Given the description of an element on the screen output the (x, y) to click on. 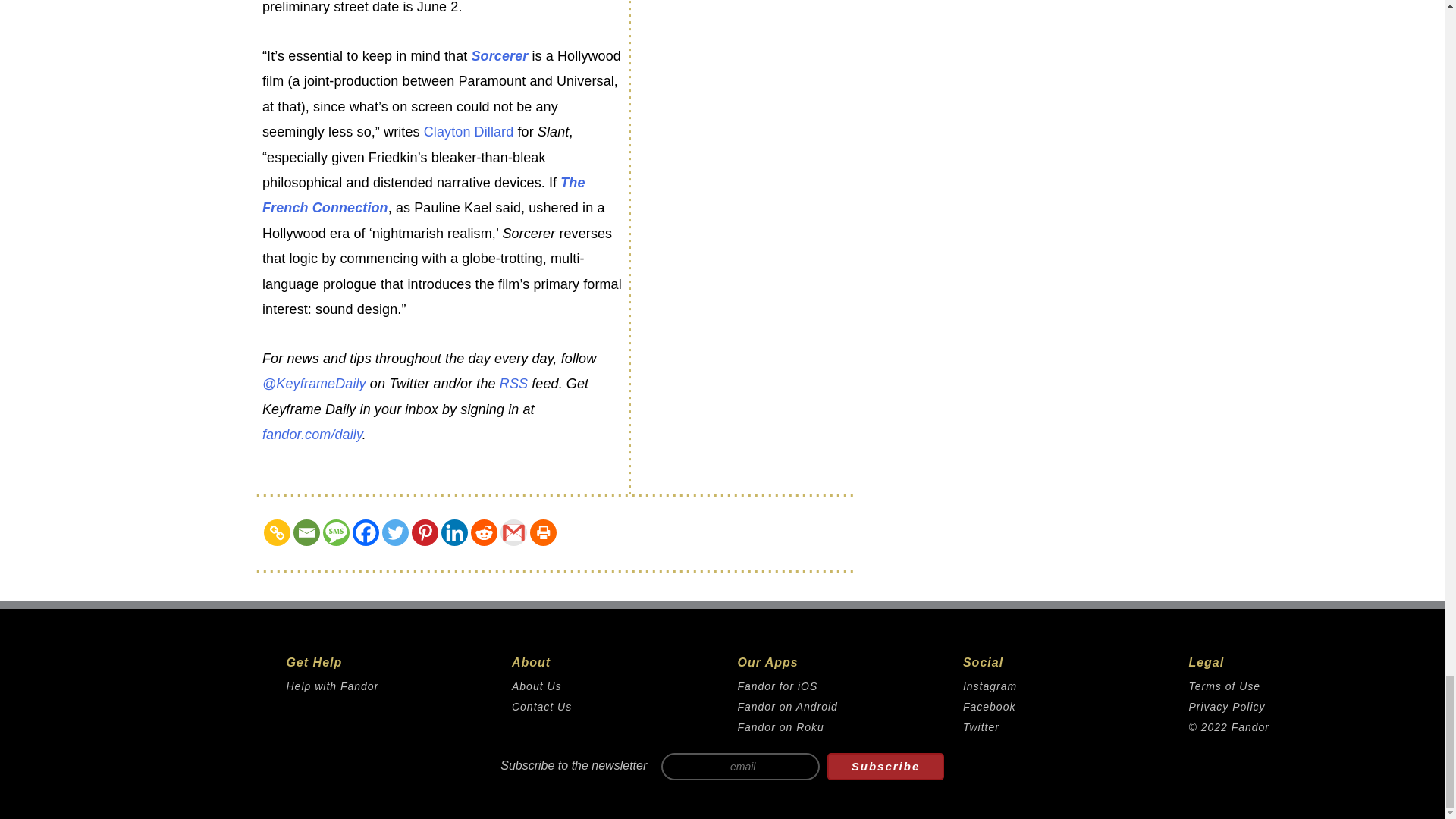
Google Gmail (513, 532)
Copy Link (276, 532)
Twitter (395, 532)
Pinterest (425, 532)
Facebook (365, 532)
Linkedin (454, 532)
Reddit (483, 532)
Print (542, 532)
Email (307, 532)
SMS (336, 532)
